Given the description of an element on the screen output the (x, y) to click on. 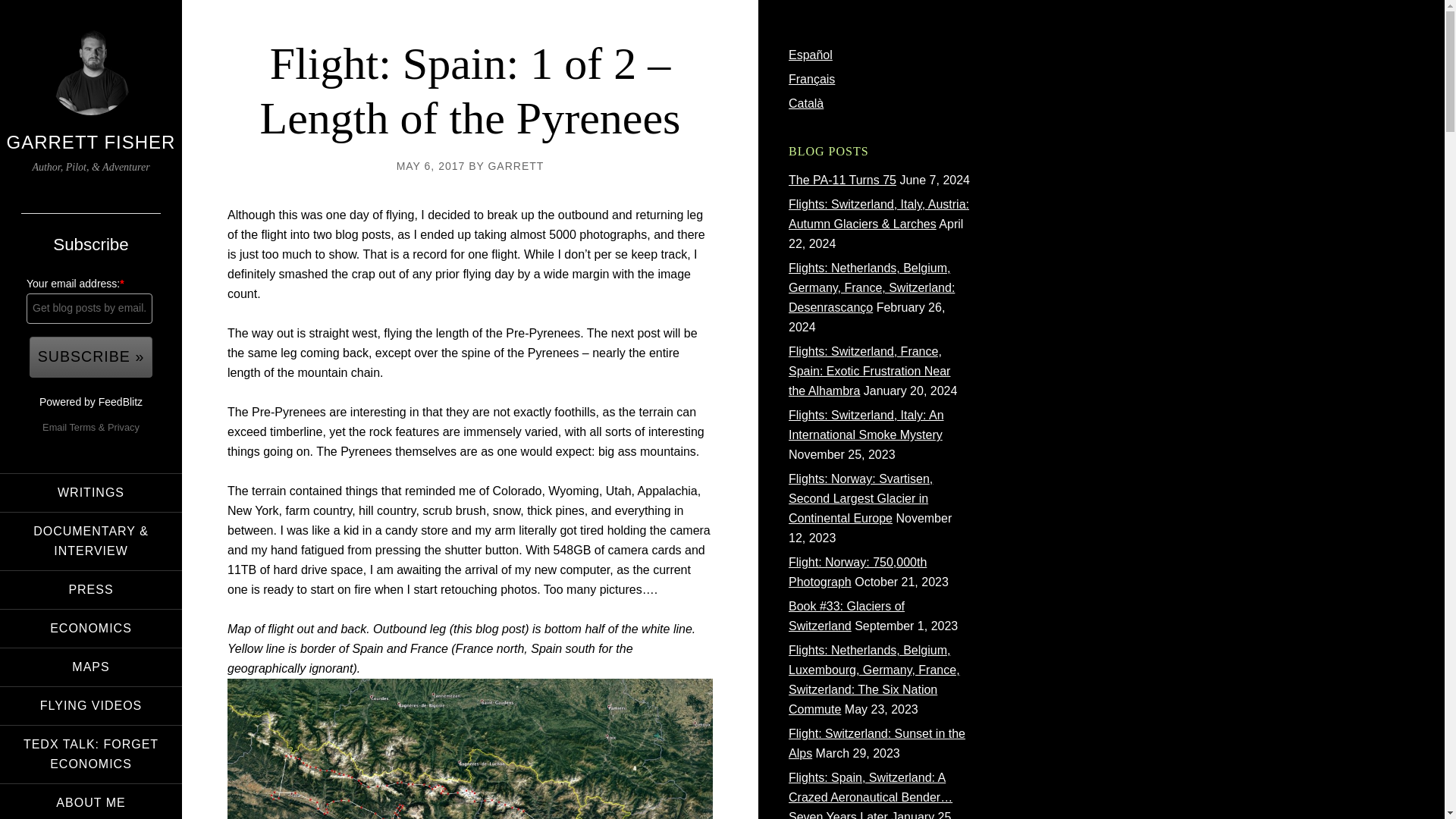
Email subscriptions terms of service (82, 427)
ABOUT ME (91, 801)
MAPS (91, 667)
Email subscriptions privacy policy (123, 427)
PRESS (91, 589)
Privacy (123, 427)
GARRETT (515, 165)
WRITINGS (91, 492)
TEDX TALK: FORGET ECONOMICS (91, 753)
Powered by FeedBlitz (90, 401)
